Given the description of an element on the screen output the (x, y) to click on. 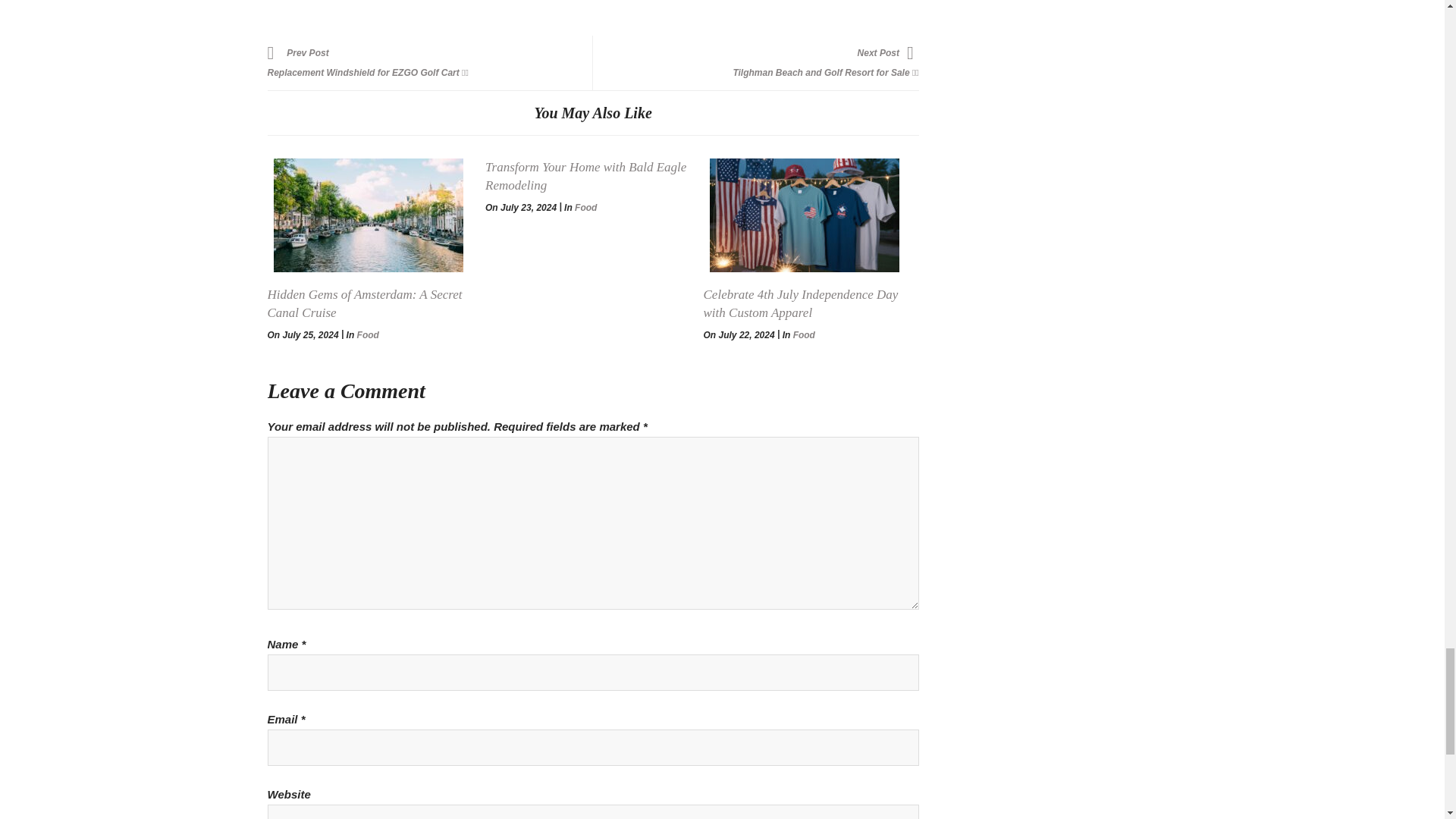
Food (367, 335)
Celebrate 4th July Independence Day with Custom Apparel (804, 214)
Food (585, 207)
Hidden Gems of Amsterdam: A Secret Canal Cruise (363, 303)
Food (804, 335)
Hidden Gems of Amsterdam: A Secret Canal Cruise (367, 214)
Transform Your Home with Bald Eagle Remodeling (584, 175)
Celebrate 4th July Independence Day with Custom Apparel (800, 303)
